Given the description of an element on the screen output the (x, y) to click on. 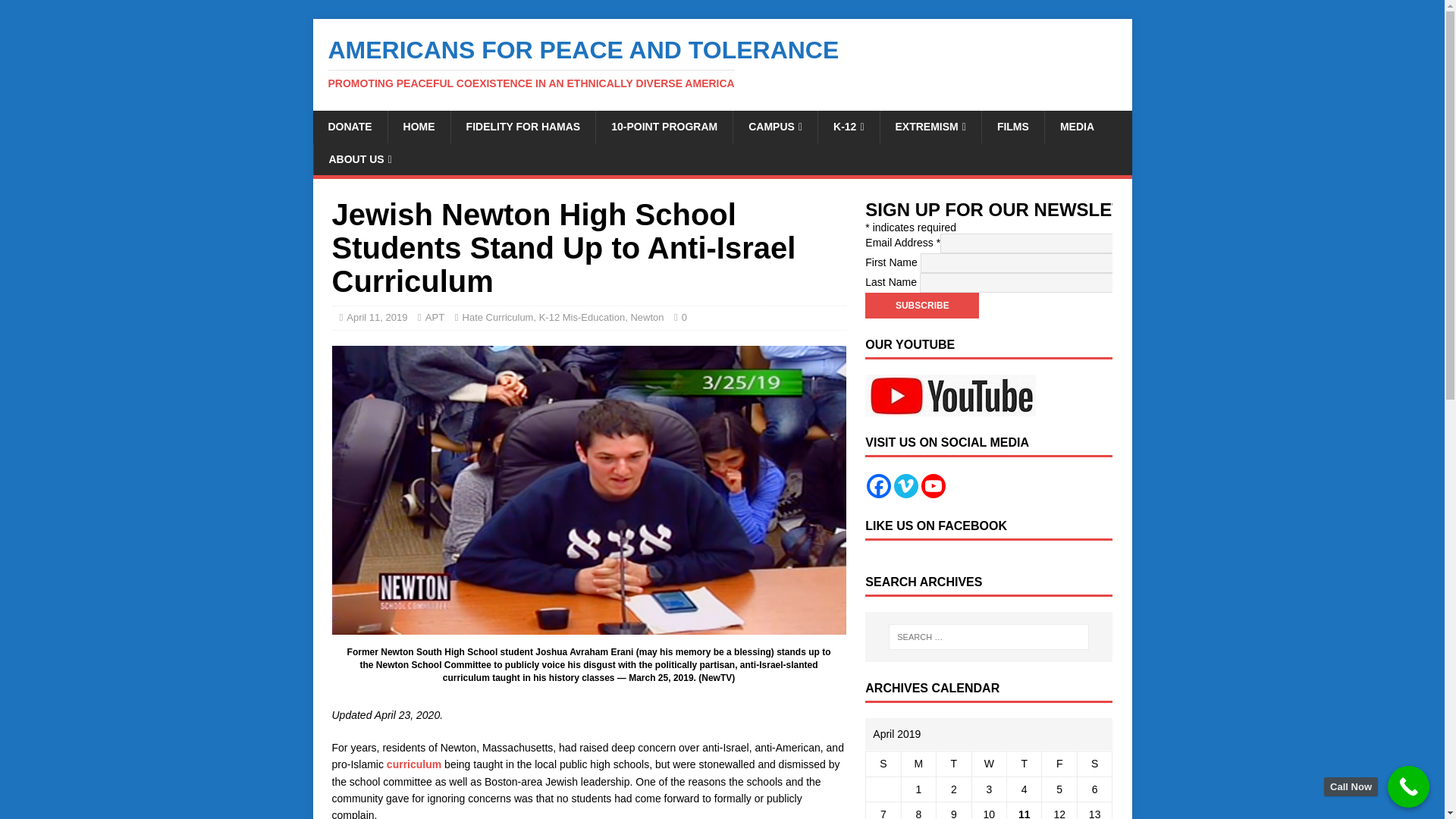
Sunday (883, 763)
Facebook (878, 485)
Tuesday (953, 763)
Thursday (1024, 763)
Wednesday (988, 763)
Monday (918, 763)
Americans for Peace and Tolerance (721, 63)
Vimeo (905, 485)
Subscribe (921, 305)
Youtube (932, 485)
